Given the description of an element on the screen output the (x, y) to click on. 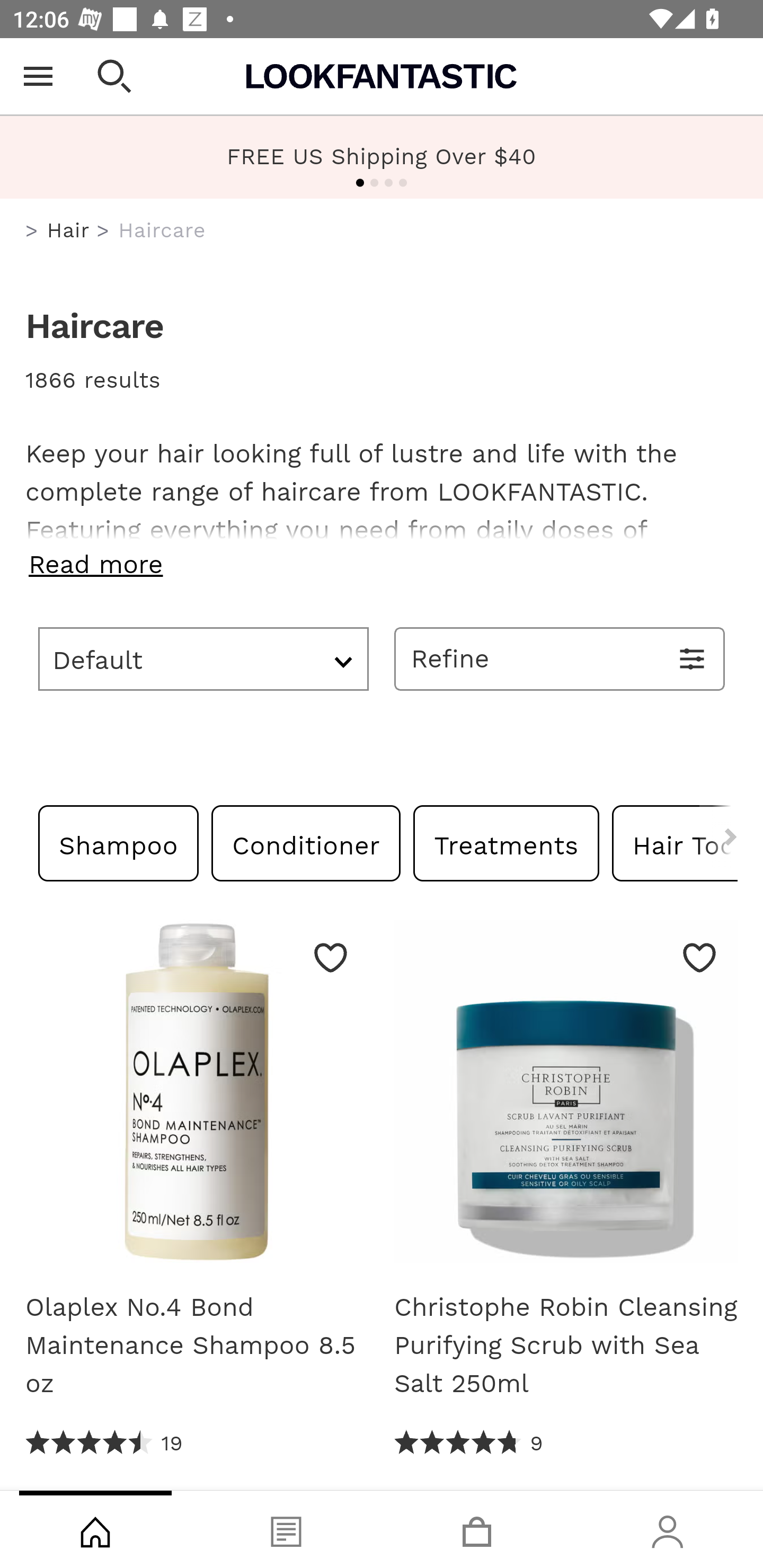
Open Menu (38, 75)
Open search (114, 75)
Lookfantastic USA (381, 75)
FREE US Shipping Over $40 (381, 157)
FREE US Shipping Over $40 (381, 155)
us.lookfantastic (32, 230)
Hair (67, 230)
Read more (381, 564)
Default (203, 658)
Refine (559, 658)
Shop Shampoo (118, 842)
Shop Conditioner (306, 842)
Shop Treatments (505, 842)
Shop Hair Tools (673, 842)
Olaplex No.4 Bond Maintenance Shampoo 8.5 oz (196, 1097)
Save to Wishlist (330, 957)
Save to Wishlist (698, 957)
Olaplex No.4 Bond Maintenance Shampoo 8.5 oz (196, 1344)
4.53 Stars 19 Reviews (104, 1442)
4.78 Stars 9 Reviews (468, 1442)
Shop, tab, 1 of 4 (95, 1529)
Blog, tab, 2 of 4 (285, 1529)
Basket, tab, 3 of 4 (476, 1529)
Account, tab, 4 of 4 (667, 1529)
